Given the description of an element on the screen output the (x, y) to click on. 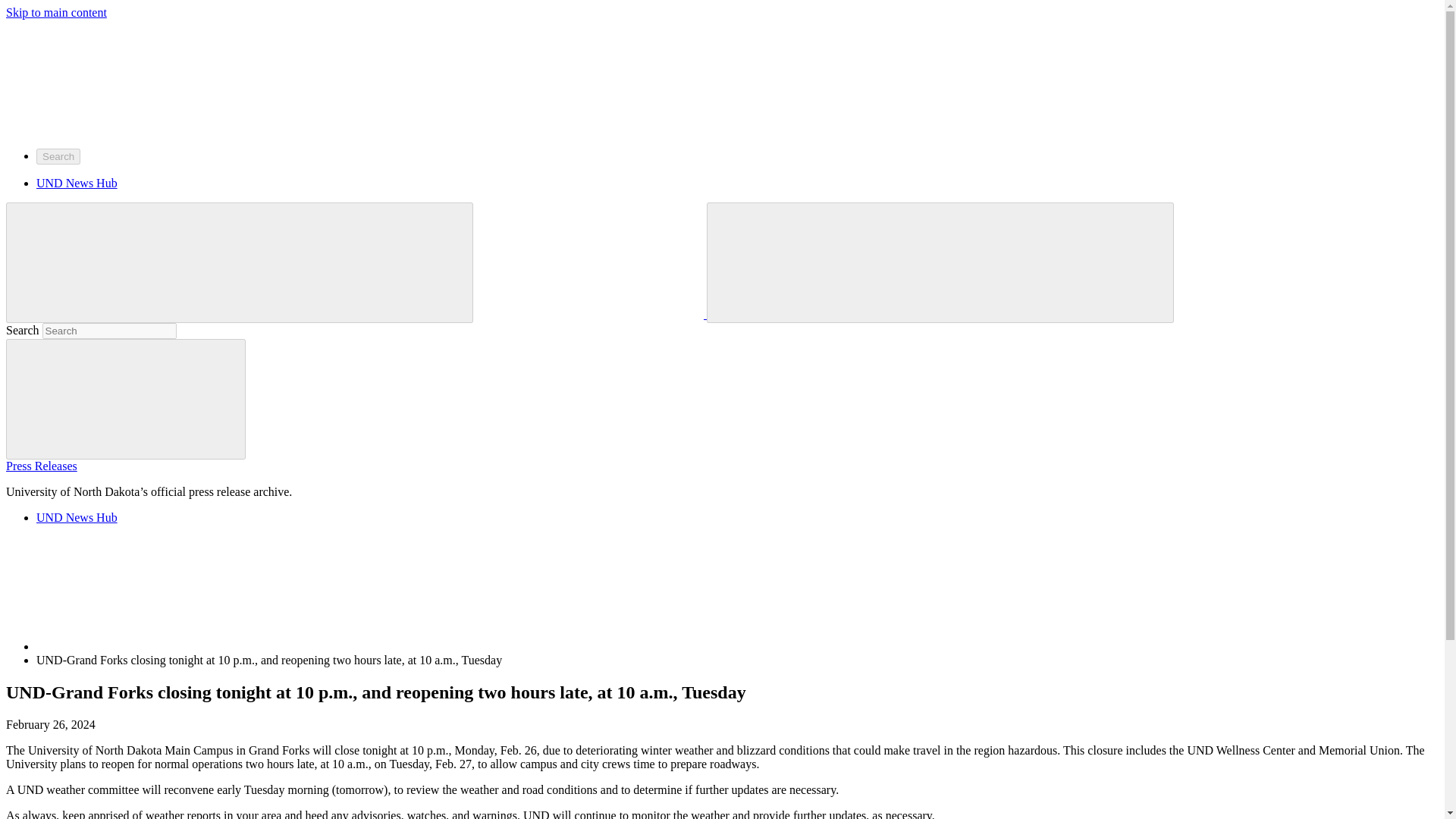
Press Releases (41, 465)
Home (149, 645)
Search (58, 156)
Submit (125, 399)
Close Search (1053, 261)
Open Search (826, 261)
Skip to main content (55, 11)
UND News Hub (76, 517)
Submit (125, 398)
University of North Dakota (118, 128)
Open SearchClose Search (939, 262)
University of North Dakota (589, 261)
Home (149, 593)
University of North Dakota (118, 76)
UND News Hub (76, 182)
